Given the description of an element on the screen output the (x, y) to click on. 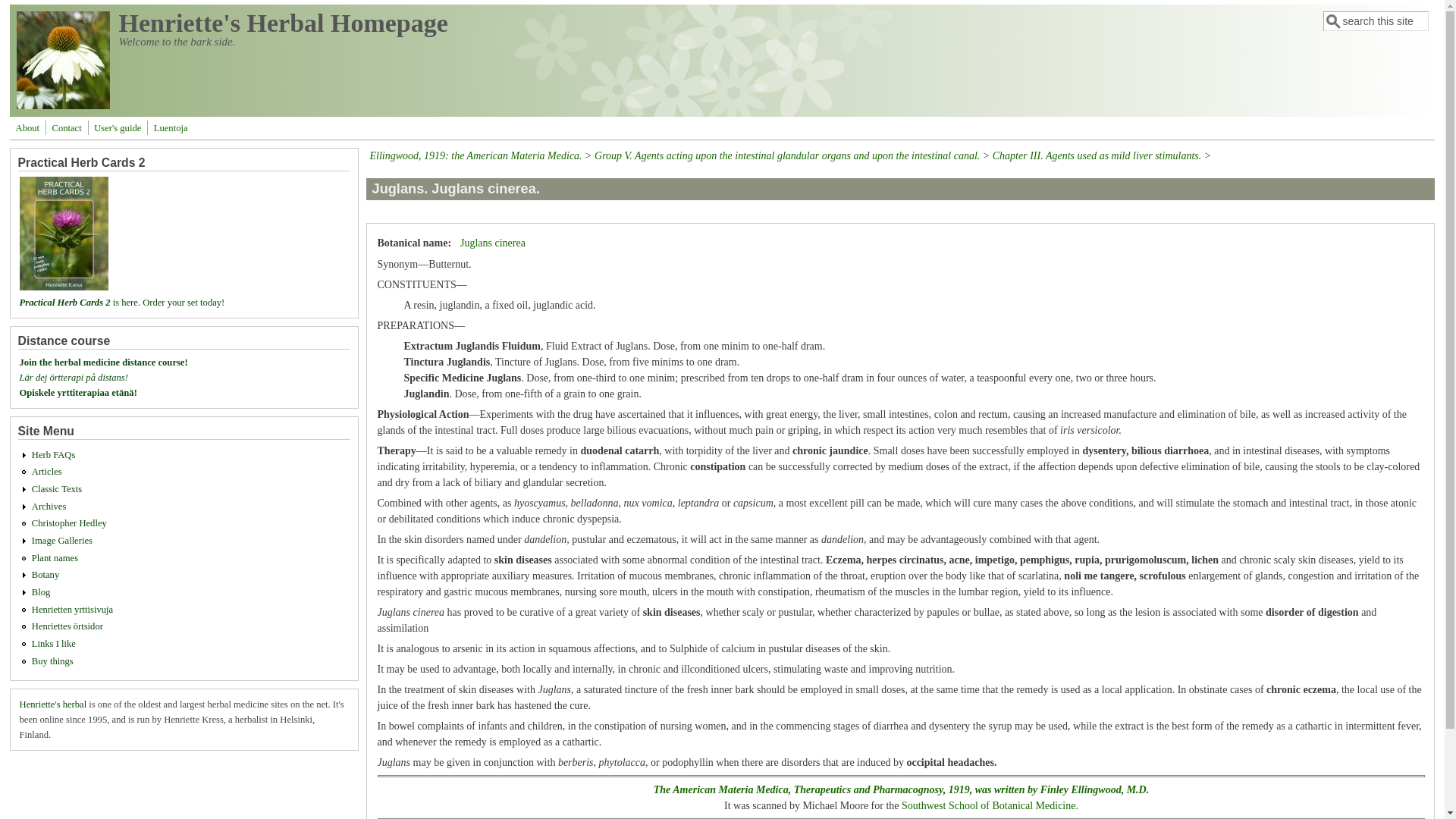
Herbal newsgroup and mailing list archives. (48, 506)
Henriette's Herbal Homepage (283, 22)
Juglans cinerea (492, 242)
Links I like (53, 643)
Buy things (53, 661)
Christopher Hedley (69, 522)
Henriette's herbal (53, 704)
Herb FAQs (53, 454)
Herbal articles. (47, 471)
Botany (45, 574)
Southwest School of Botanical Medicine. (989, 805)
Plant names (55, 557)
Henriette's herbal blog. (41, 592)
